Given the description of an element on the screen output the (x, y) to click on. 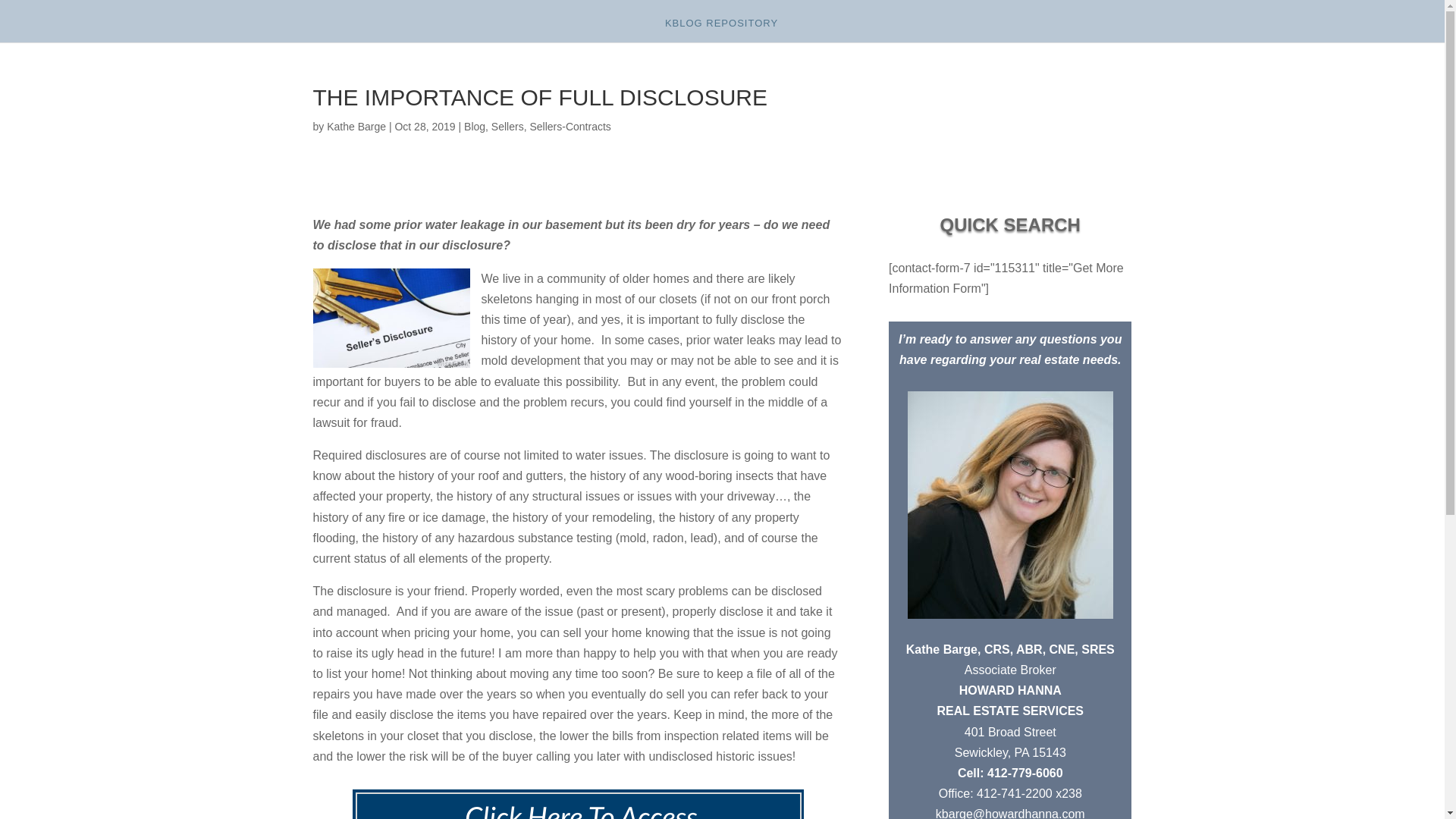
Posts by Kathe Barge (355, 126)
Blog (474, 126)
Sellers-Contracts (569, 126)
Sellers (508, 126)
KBLOG REPOSITORY (721, 30)
Kathe Barge (355, 126)
